Given the description of an element on the screen output the (x, y) to click on. 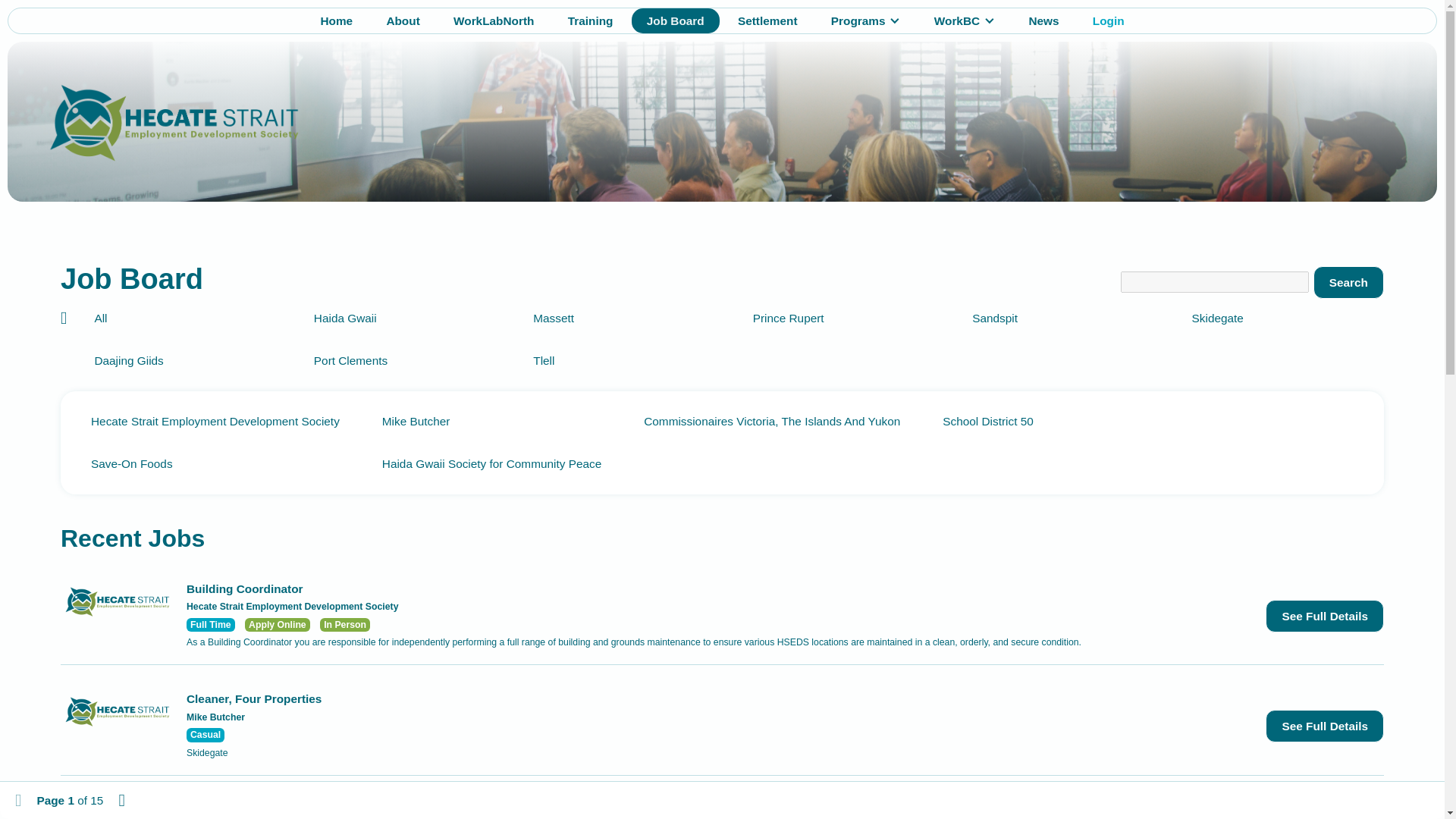
See Full Details (1324, 615)
Tlell (621, 360)
Search (1348, 282)
Port Clements (401, 360)
Prince Rupert (841, 318)
Login (1108, 20)
WorkLabNorth (493, 20)
Skidegate (1280, 318)
See Full Details (1324, 726)
Job Board (675, 20)
Massett (621, 318)
All (181, 318)
Settlement (767, 20)
Home (336, 20)
News (1043, 20)
